Given the description of an element on the screen output the (x, y) to click on. 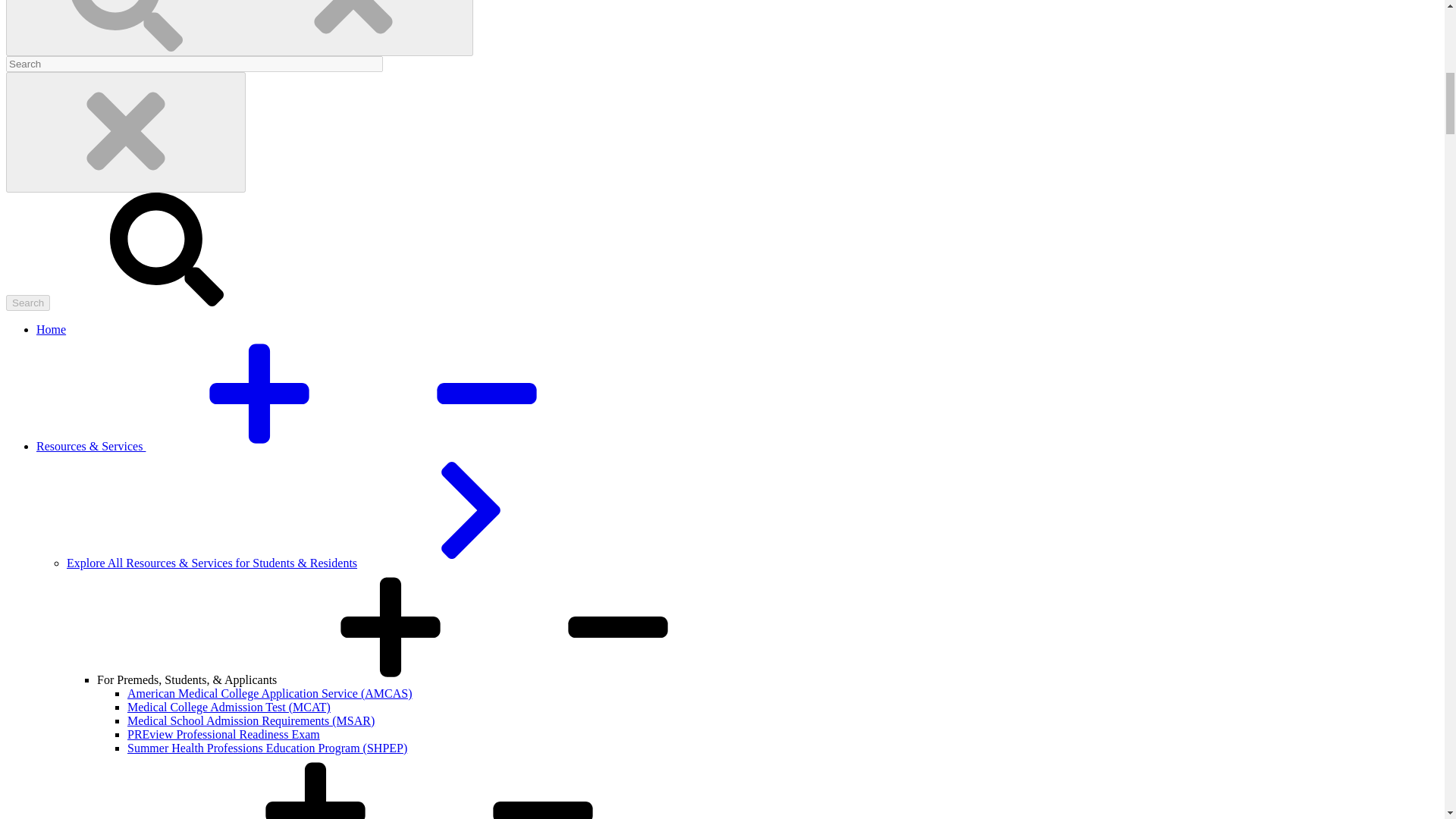
Search (27, 302)
Home (50, 328)
PREview Professional Readiness Exam (224, 734)
Search (27, 302)
